Given the description of an element on the screen output the (x, y) to click on. 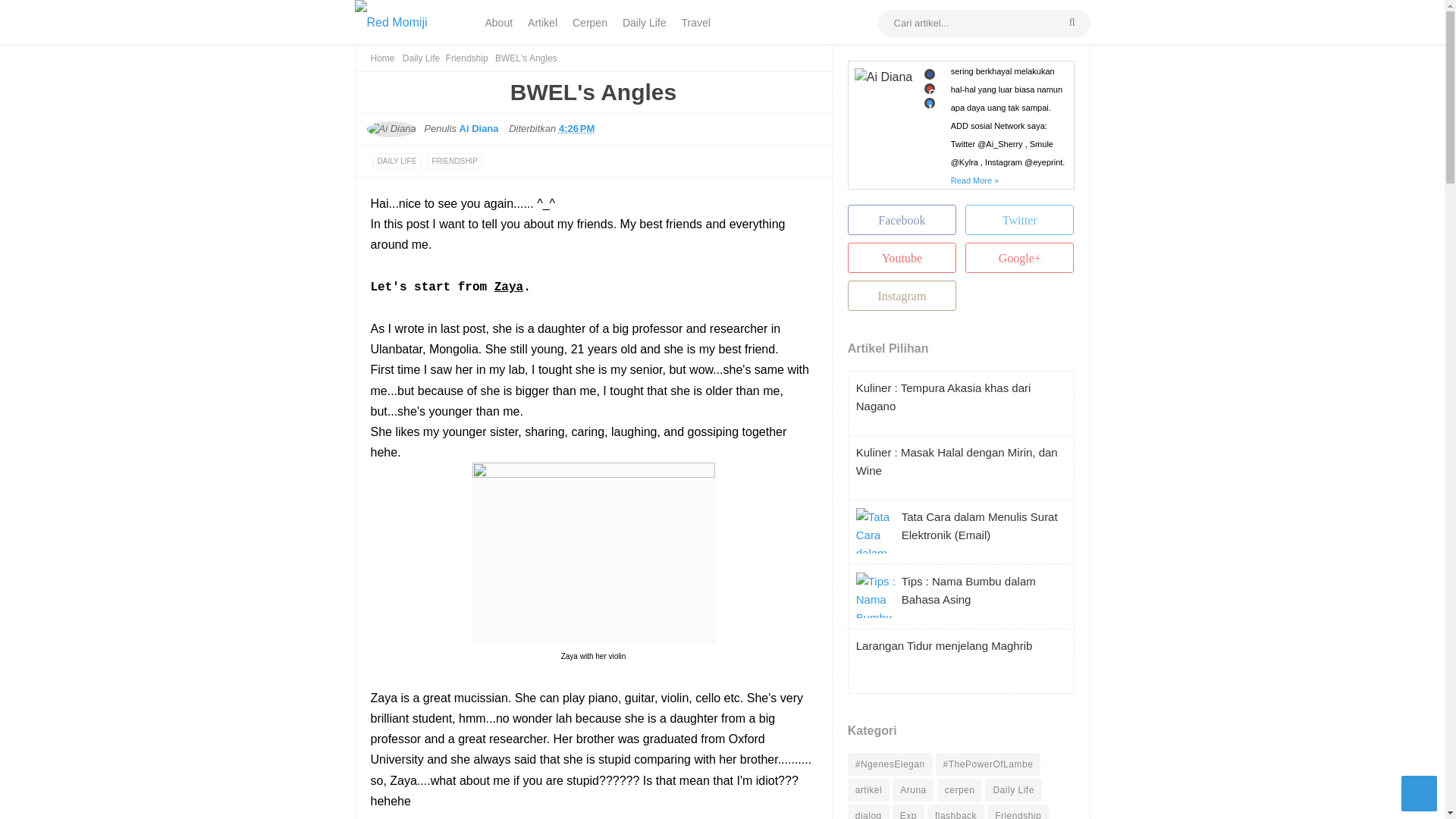
Cerpen (589, 22)
FRIENDSHIP (453, 161)
Daily Life (644, 22)
About (499, 22)
Ai Diana (391, 129)
Artikel (541, 22)
Travel (695, 22)
permanent link (580, 128)
author profile (484, 128)
Home (381, 58)
Ai Diana (484, 128)
Cari artikel... (983, 22)
Friendship (466, 58)
2012-12-20T16:26:00-08:00 (576, 128)
